Given the description of an element on the screen output the (x, y) to click on. 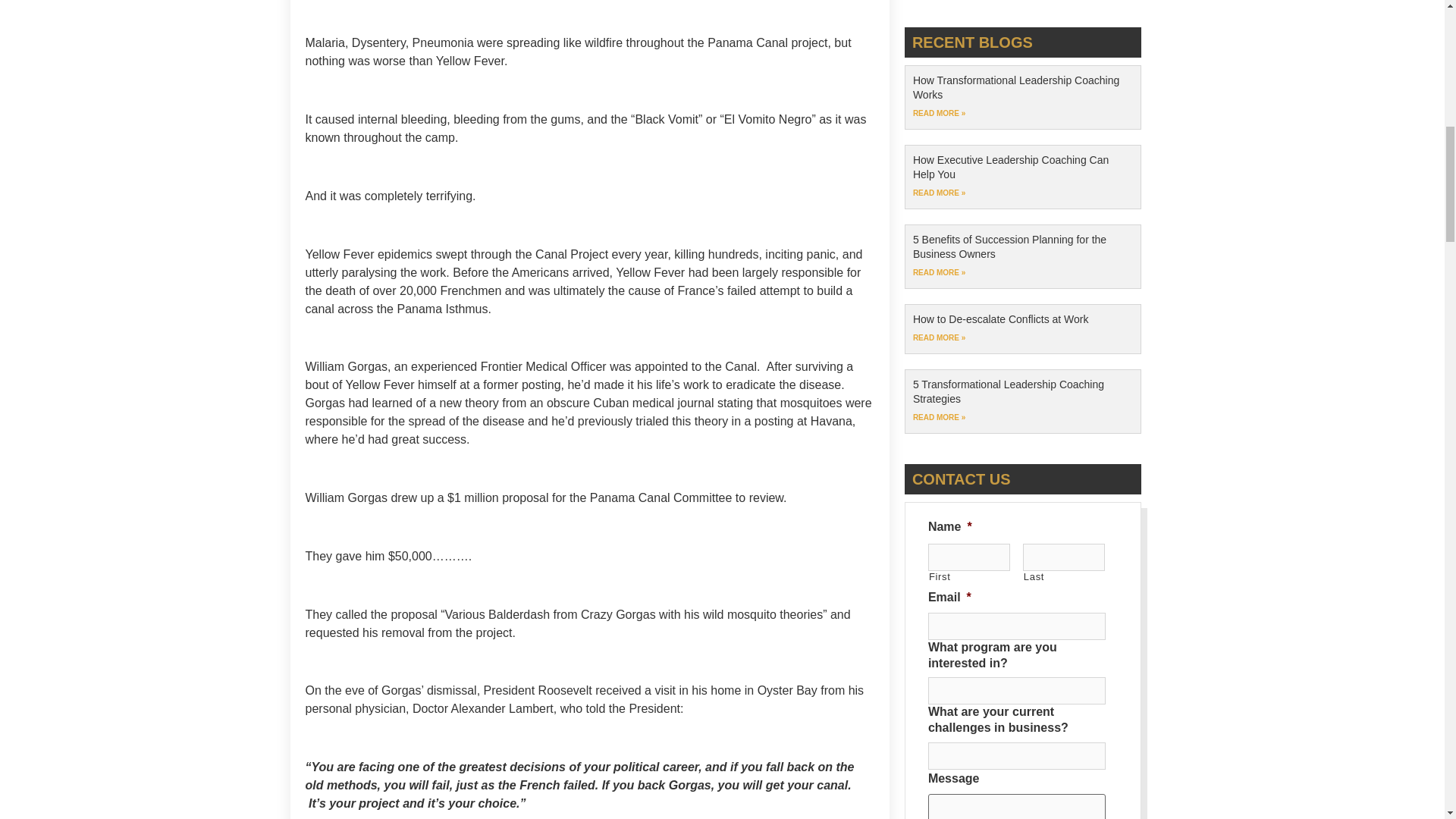
How Transformational Leadership Coaching Works (1015, 87)
